Given the description of an element on the screen output the (x, y) to click on. 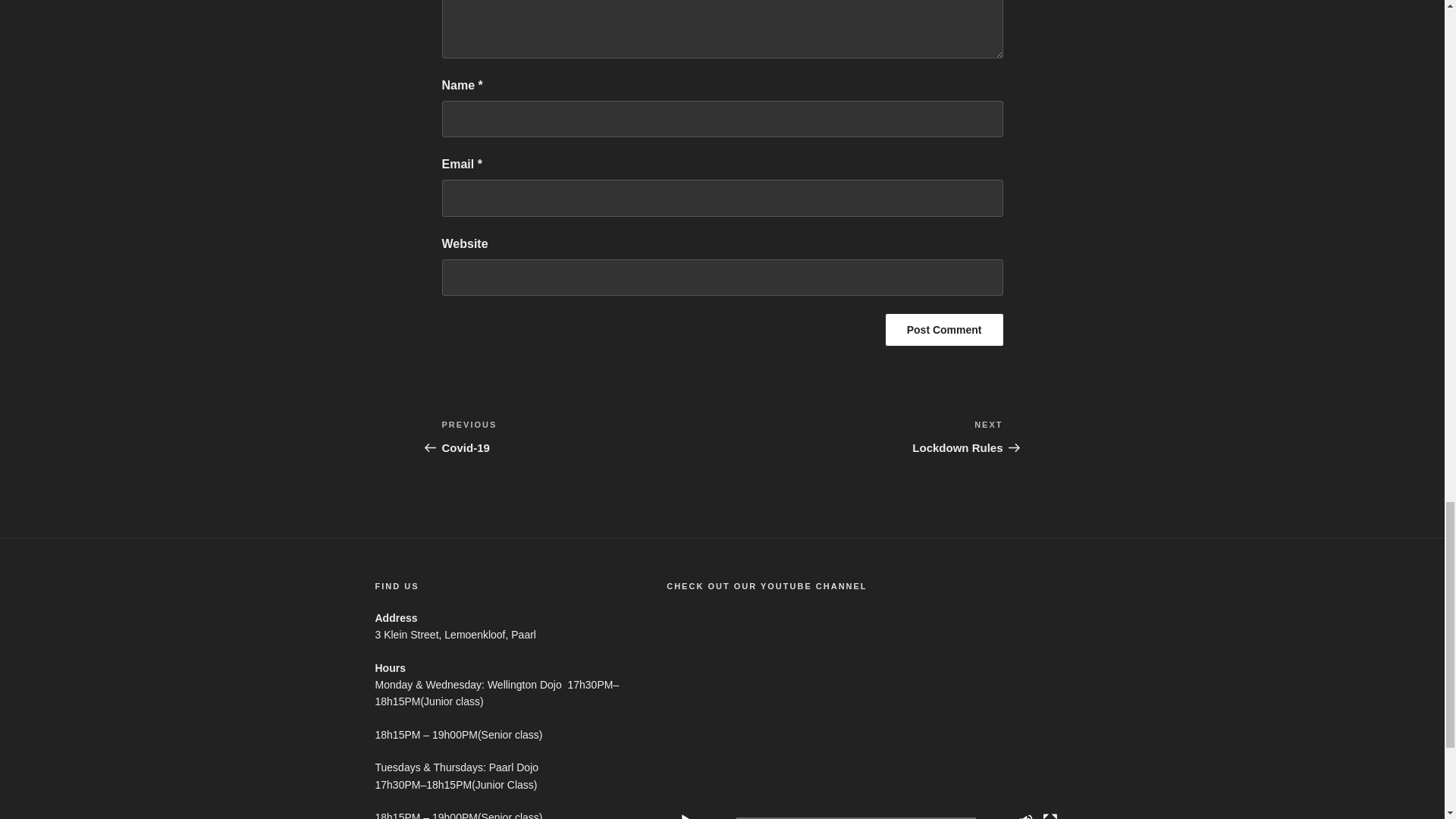
Mute (1024, 816)
Play (686, 816)
Post Comment (944, 329)
Fullscreen (1049, 816)
Post Comment (944, 329)
